Given the description of an element on the screen output the (x, y) to click on. 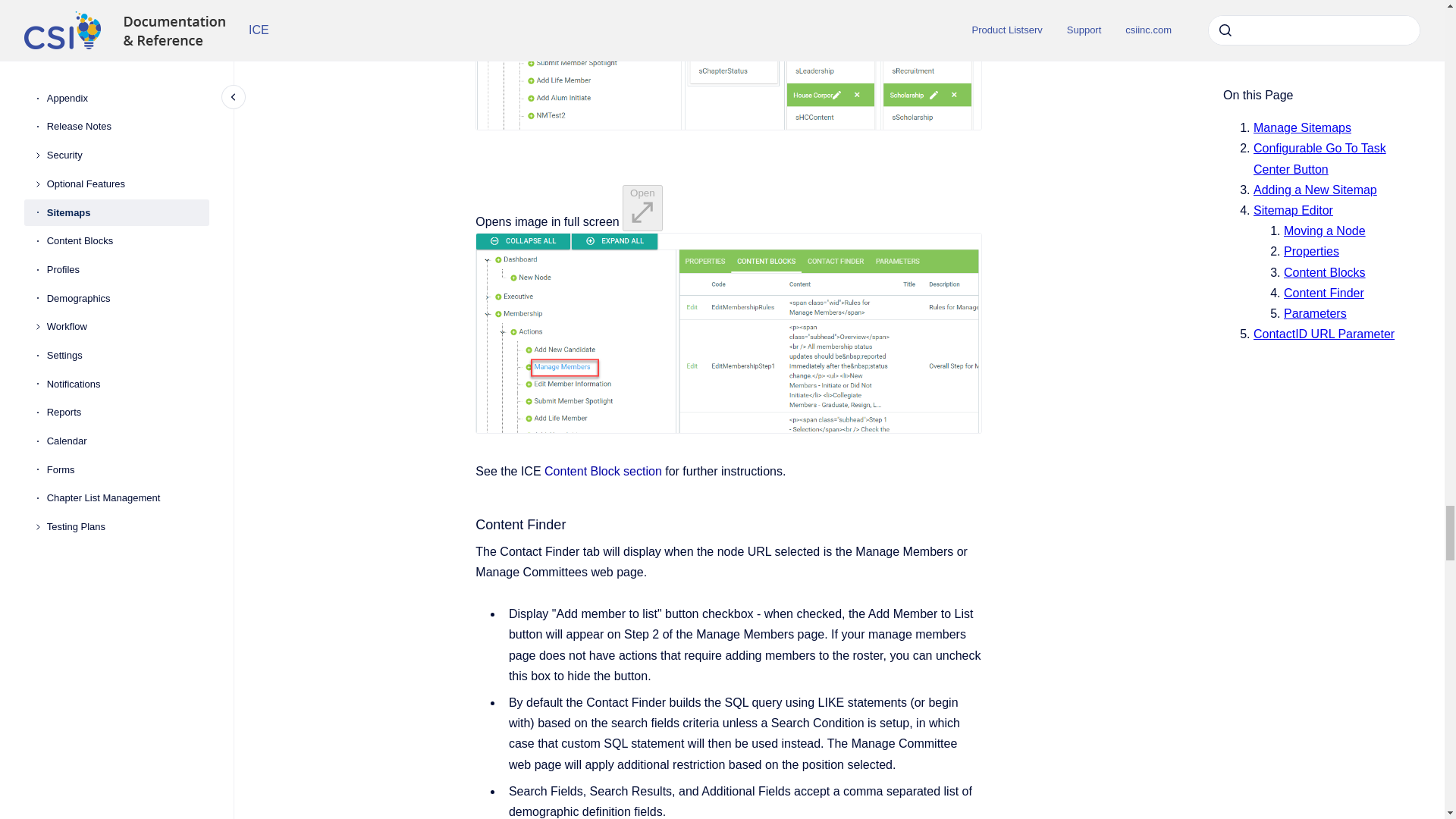
Copy to clipboard (468, 523)
